Given the description of an element on the screen output the (x, y) to click on. 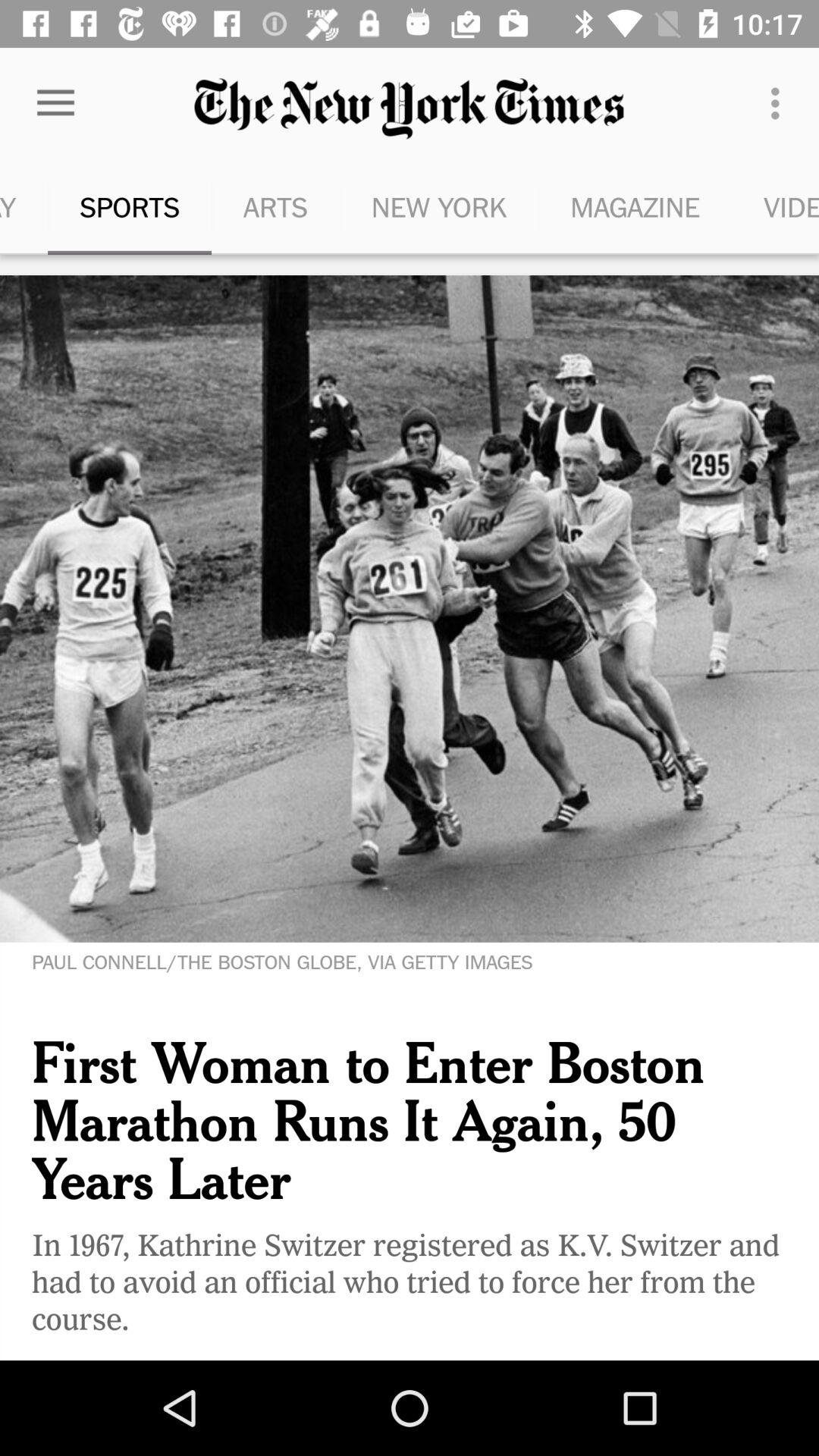
click the item above the magazine item (779, 103)
